Given the description of an element on the screen output the (x, y) to click on. 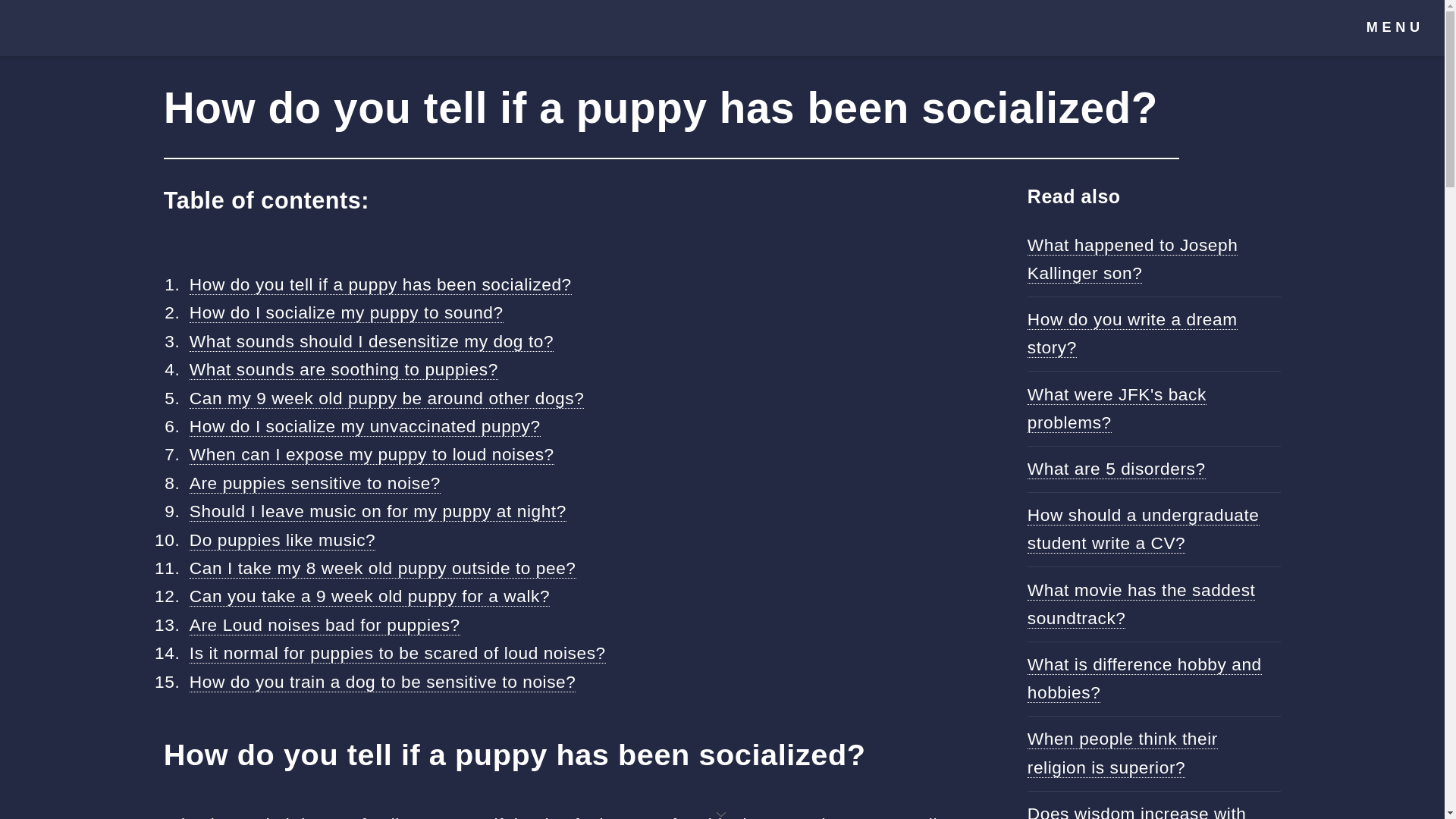
What movie has the saddest soundtrack? (1141, 603)
What were JFK's back problems? (1117, 408)
Can you take a 9 week old puppy for a walk? (369, 596)
What are 5 disorders? (1116, 468)
When people think their religion is superior? (1122, 752)
How do I socialize my puppy to sound? (346, 312)
What sounds should I desensitize my dog to? (371, 341)
What is difference hobby and hobbies? (1144, 678)
Do puppies like music? (282, 539)
How do you write a dream story? (1132, 333)
Are puppies sensitive to noise? (315, 483)
Should I leave music on for my puppy at night? (377, 511)
How should a undergraduate student write a CV? (1143, 529)
How do you tell if a puppy has been socialized? (380, 284)
Does wisdom increase with age? (1136, 811)
